Given the description of an element on the screen output the (x, y) to click on. 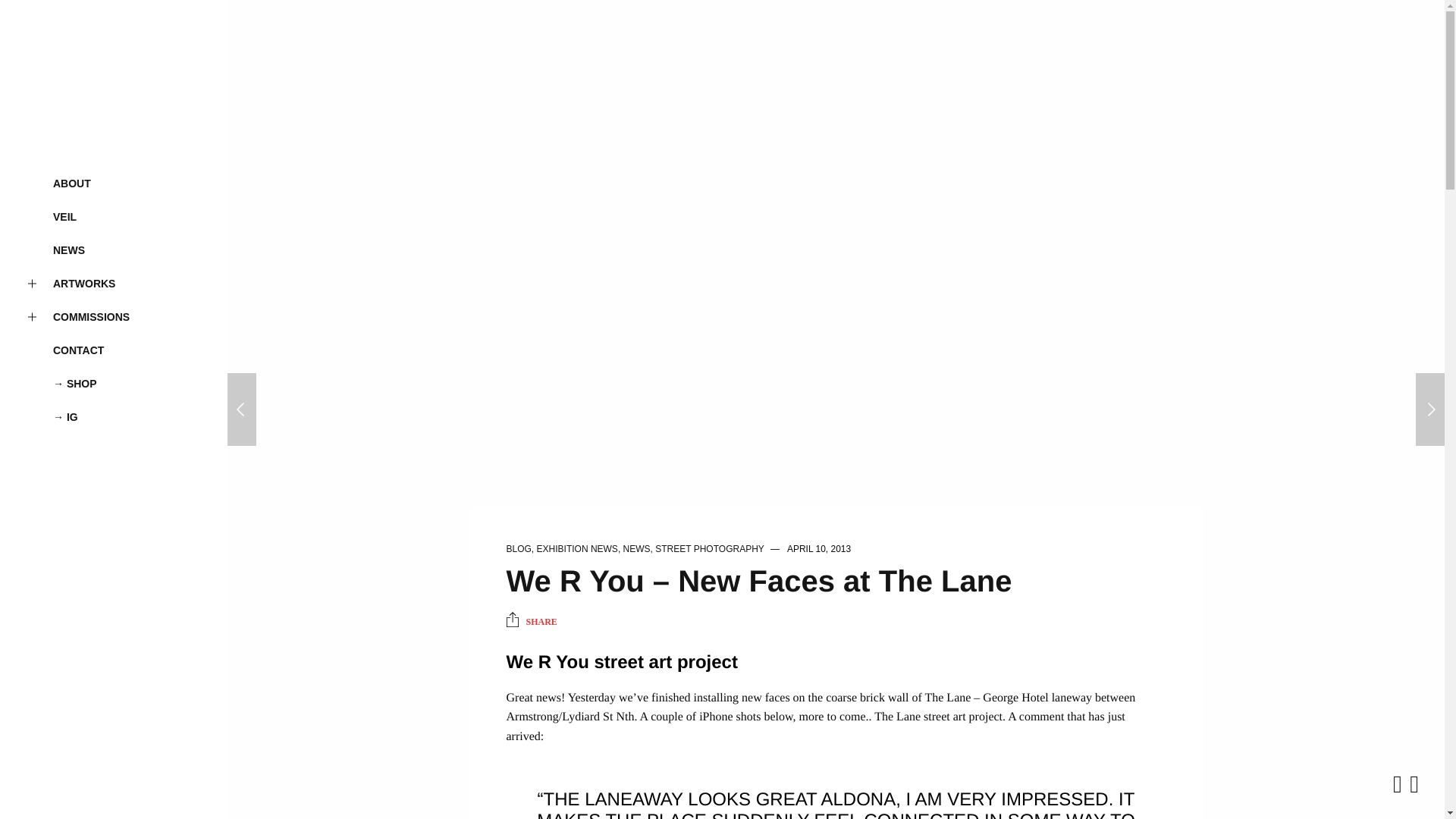
COMMISSIONS (114, 316)
NEWS (636, 548)
CONTACT (114, 349)
NEWS (114, 249)
VEIL (114, 216)
SHARE (531, 621)
BLOG (518, 548)
ARTWORKS (114, 283)
STREET PHOTOGRAPHY (708, 548)
EXHIBITION NEWS (577, 548)
